Given the description of an element on the screen output the (x, y) to click on. 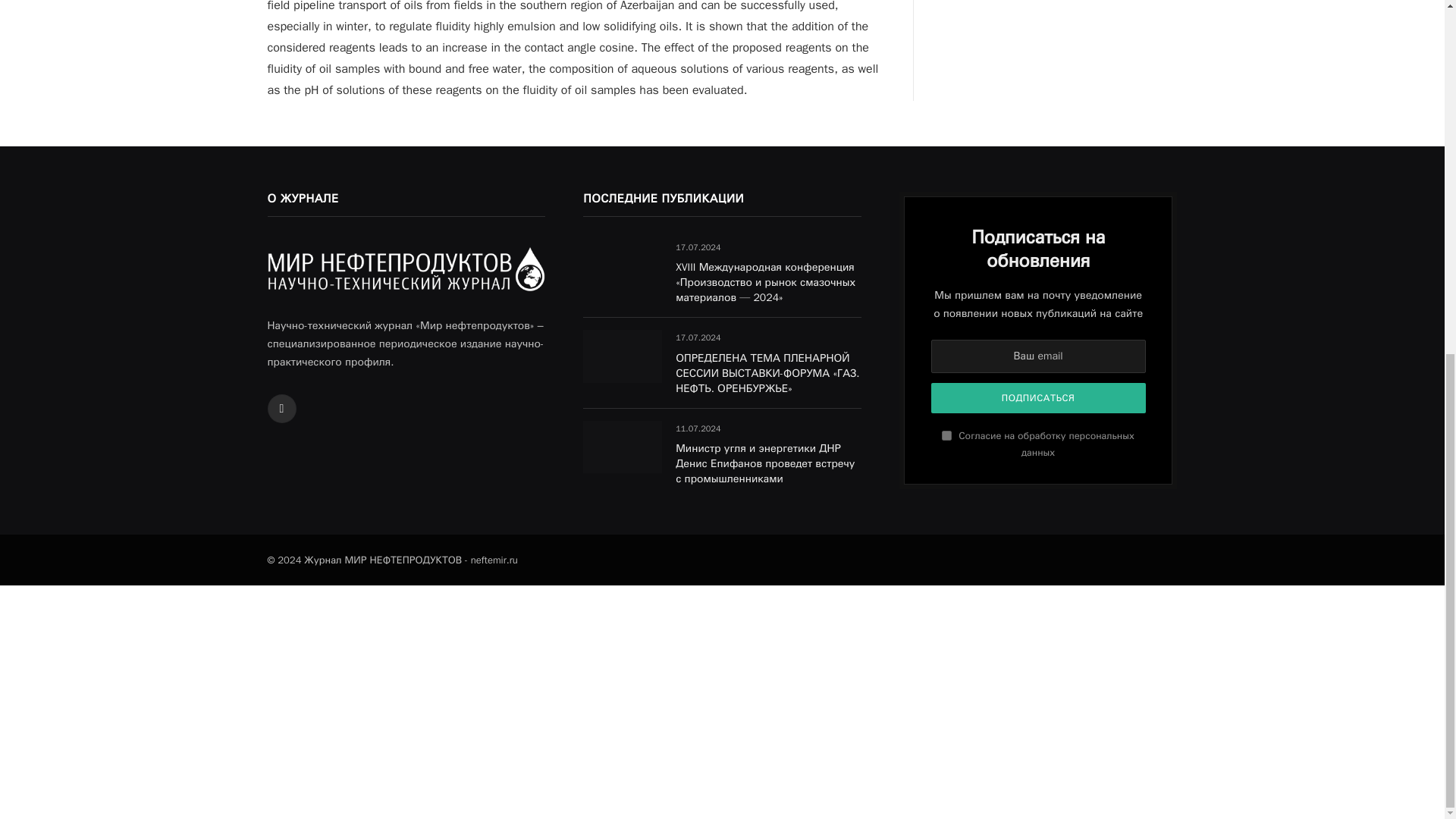
on (947, 435)
